Given the description of an element on the screen output the (x, y) to click on. 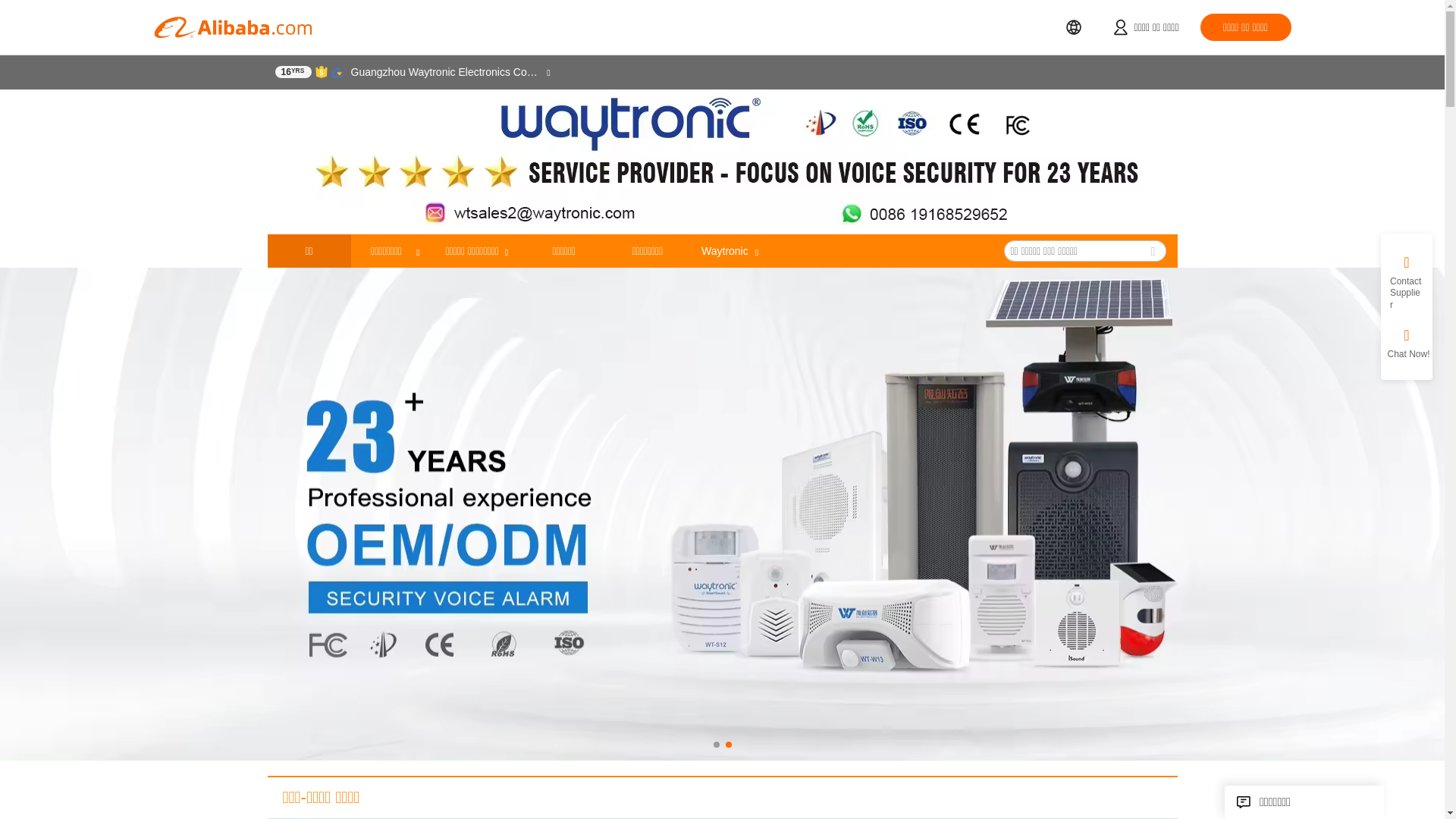
What is Gold Supplier? (293, 71)
16YRS (293, 71)
